Given the description of an element on the screen output the (x, y) to click on. 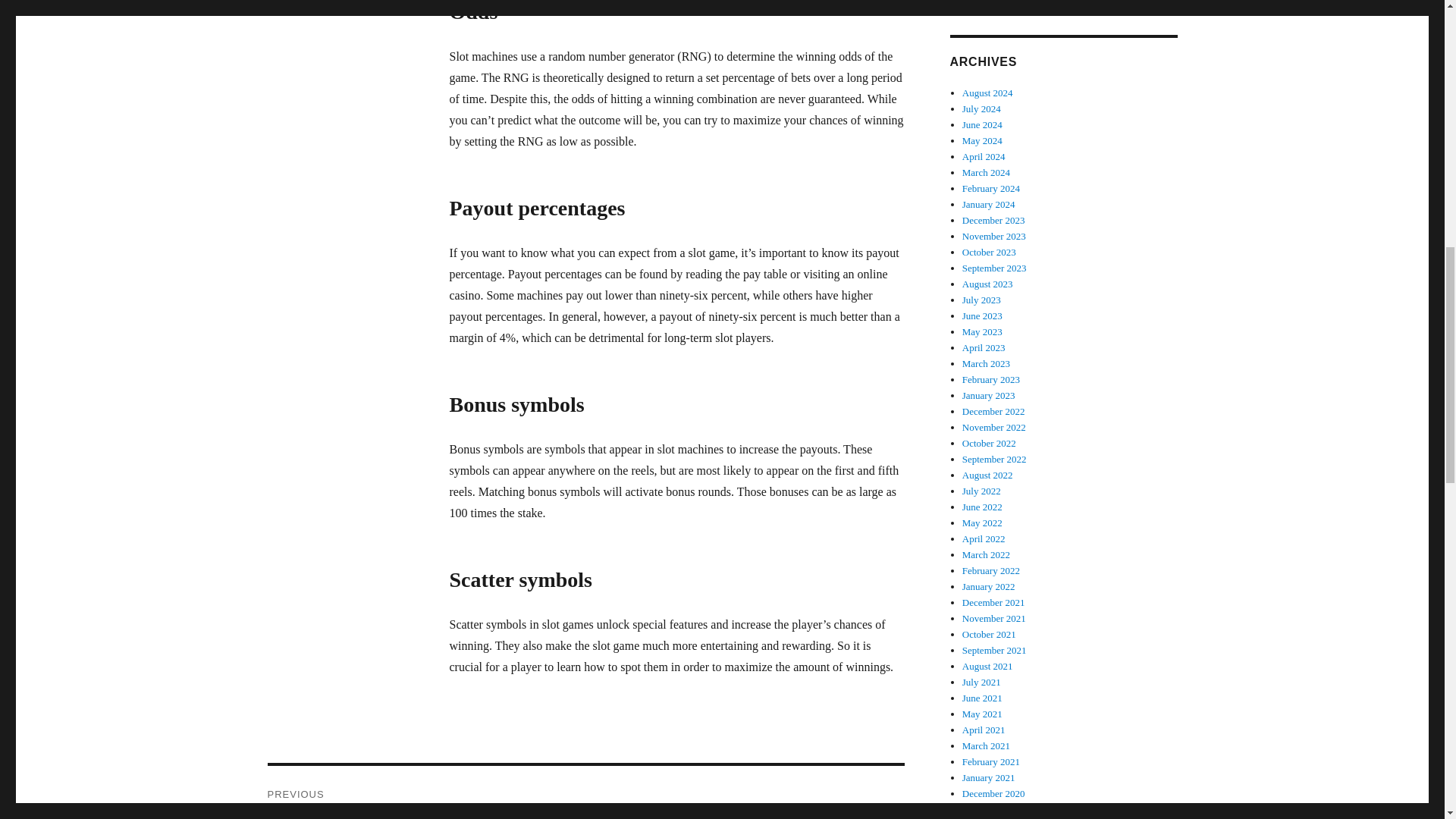
June 2023 (585, 792)
August 2023 (982, 315)
May 2024 (987, 283)
April 2024 (982, 140)
February 2024 (984, 156)
March 2024 (991, 188)
January 2024 (986, 172)
November 2023 (988, 204)
July 2023 (994, 235)
October 2023 (981, 299)
July 2024 (989, 251)
June 2024 (981, 108)
May 2023 (982, 124)
April 2023 (982, 331)
